Given the description of an element on the screen output the (x, y) to click on. 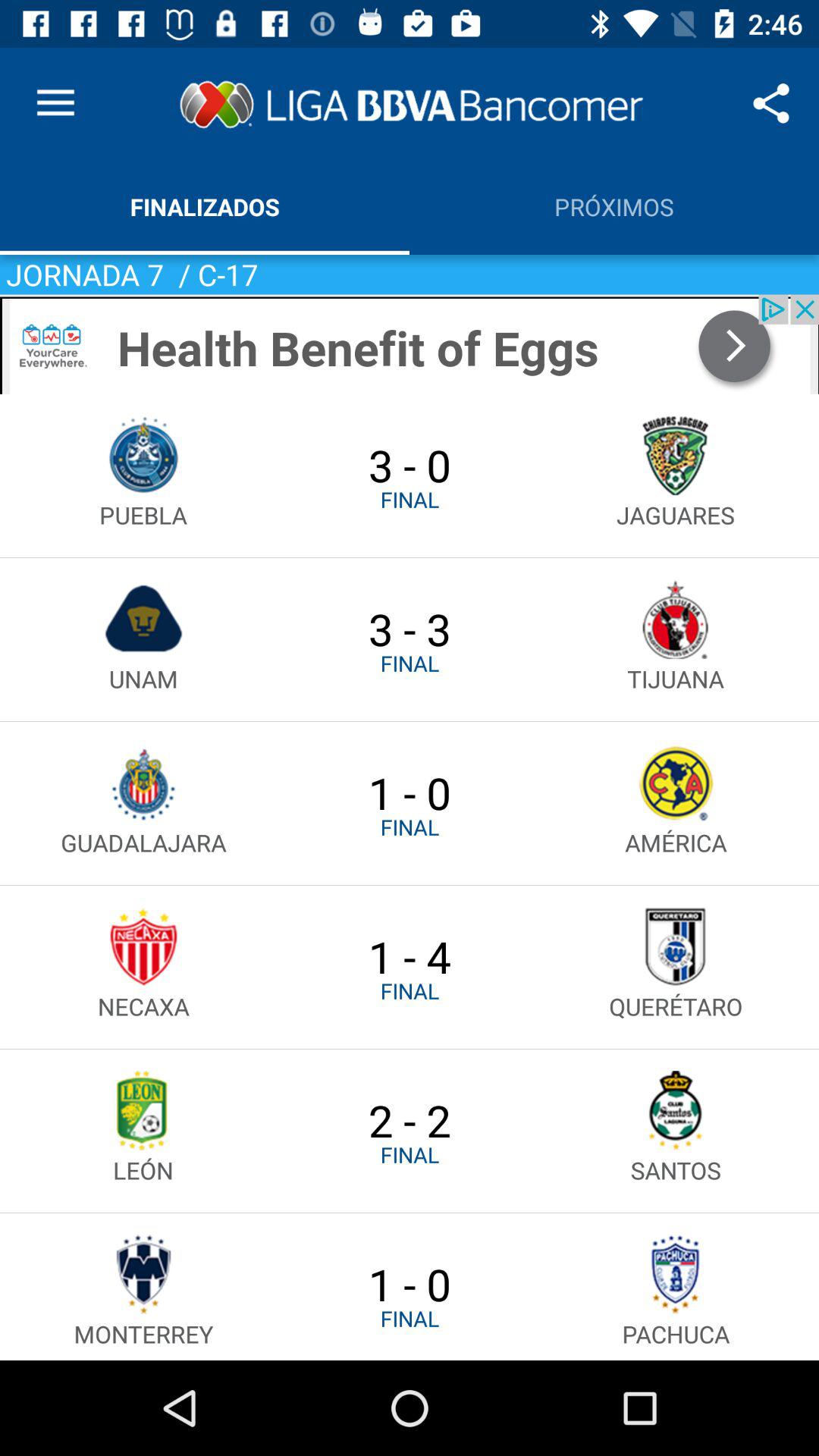
advatisment (409, 344)
